Given the description of an element on the screen output the (x, y) to click on. 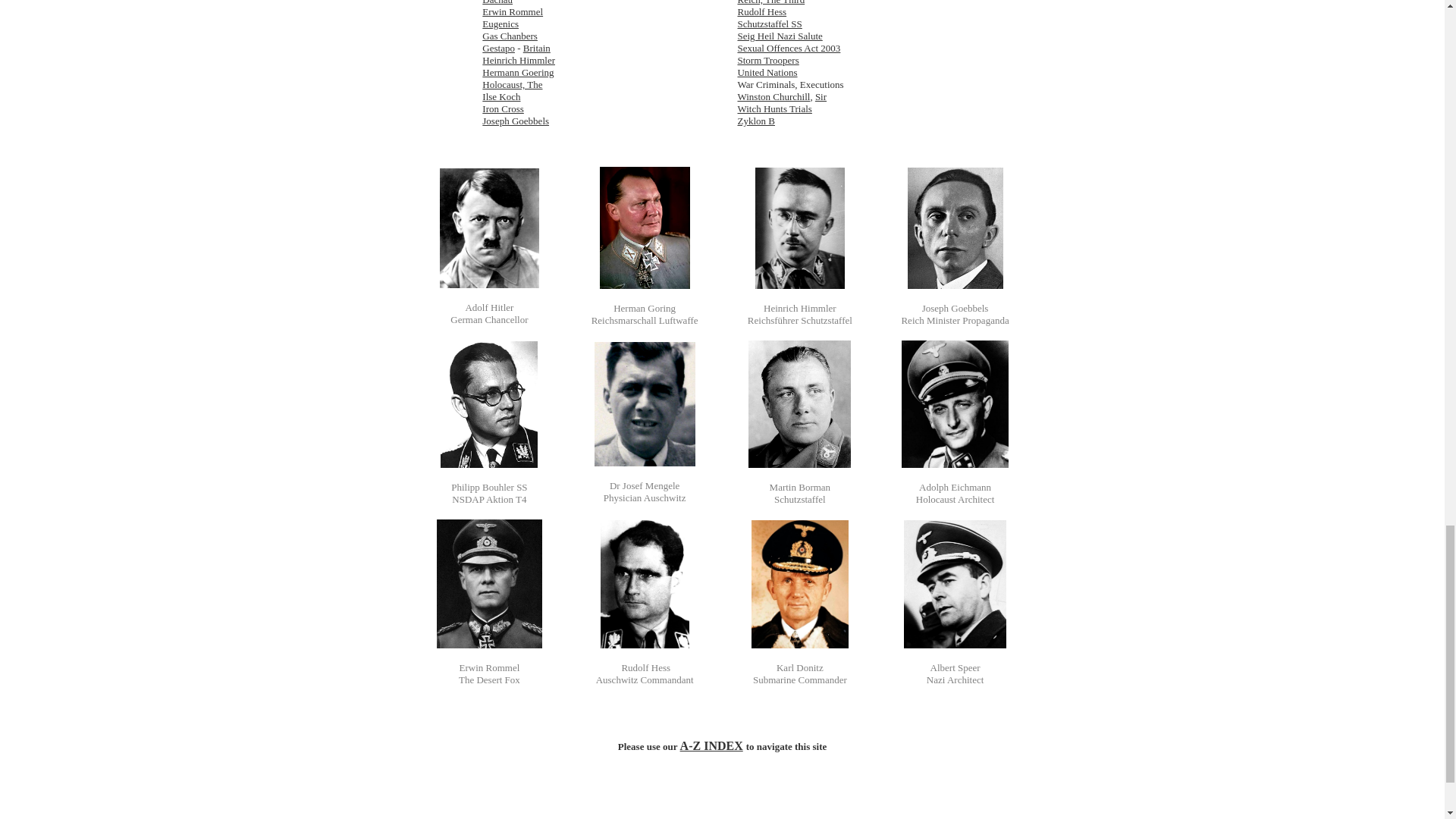
Hermann Goering (517, 71)
Joseph Goebbels (514, 120)
Erwin Rommel (512, 11)
Britain (536, 48)
Iron Cross (502, 108)
Holocaust, The (511, 84)
Gas Chanbers (509, 35)
Ilse Koch (500, 96)
Eugenics (499, 23)
Gestapo (498, 48)
Dachau (496, 2)
Heinrich Himmler (517, 60)
